Given the description of an element on the screen output the (x, y) to click on. 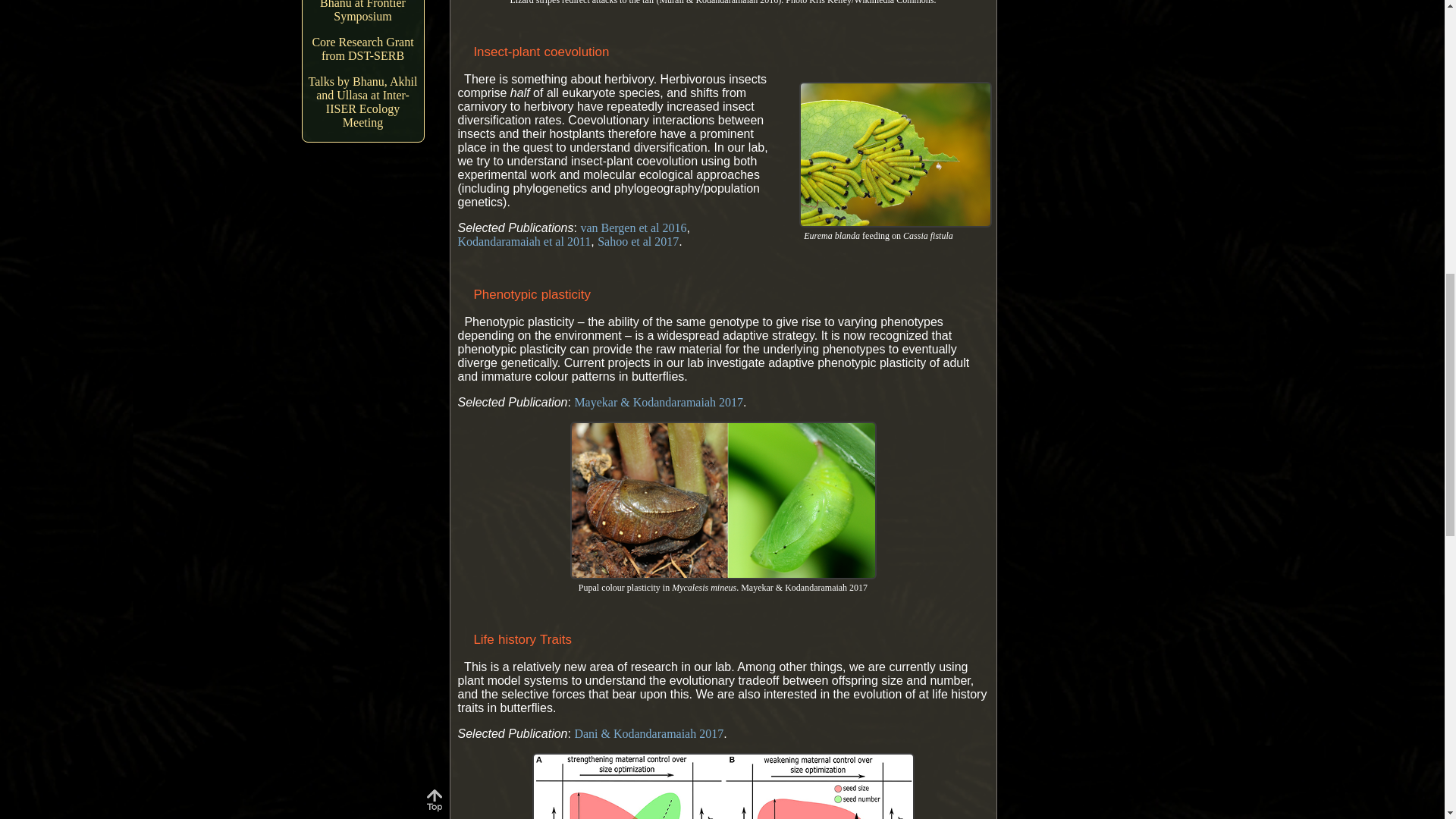
van Bergen et al 2016 (632, 227)
Kodandaramaiah et al 2011 (524, 241)
Sahoo et al 2017 (637, 241)
